Given the description of an element on the screen output the (x, y) to click on. 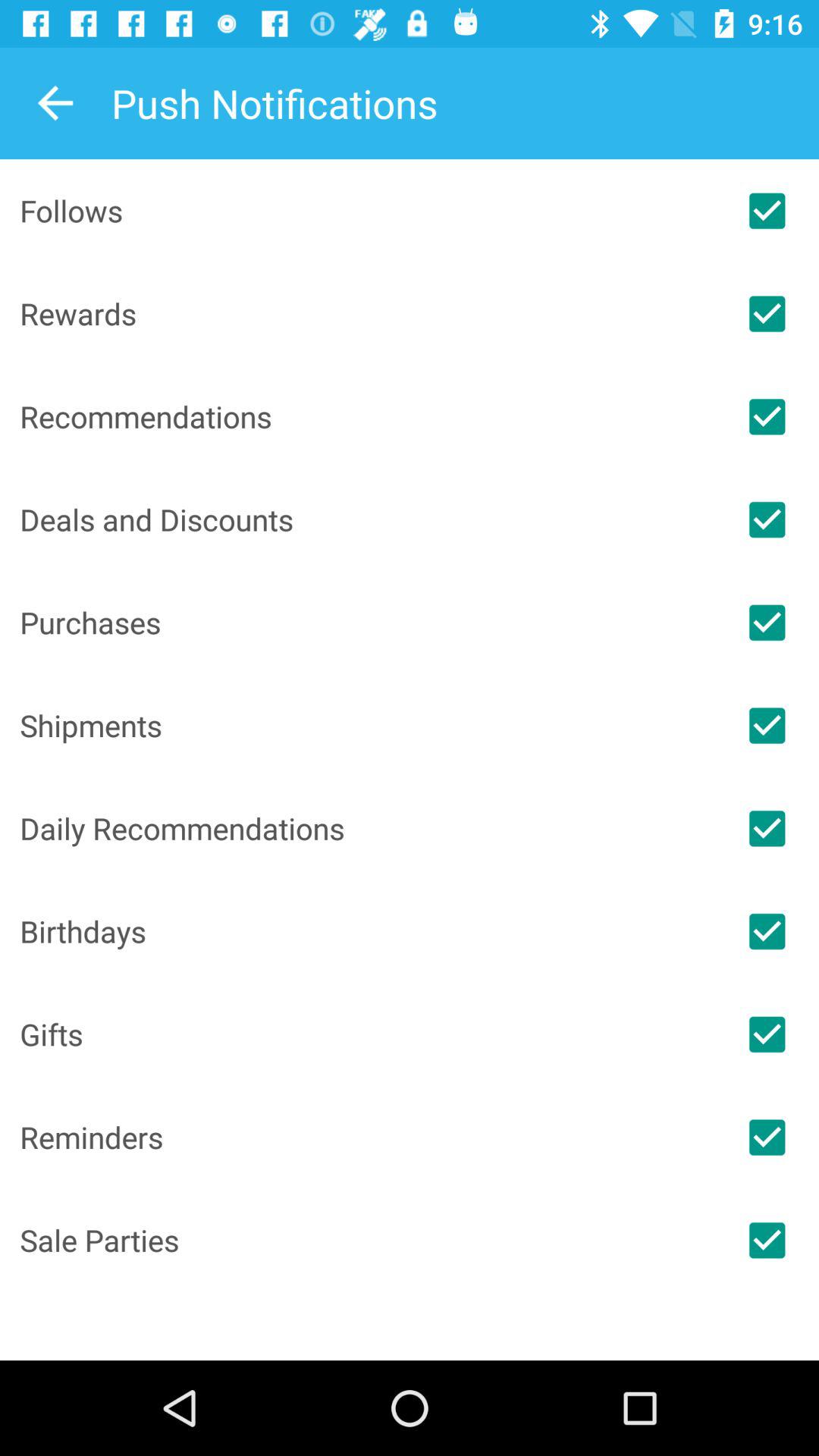
toggle notifications (767, 725)
